Given the description of an element on the screen output the (x, y) to click on. 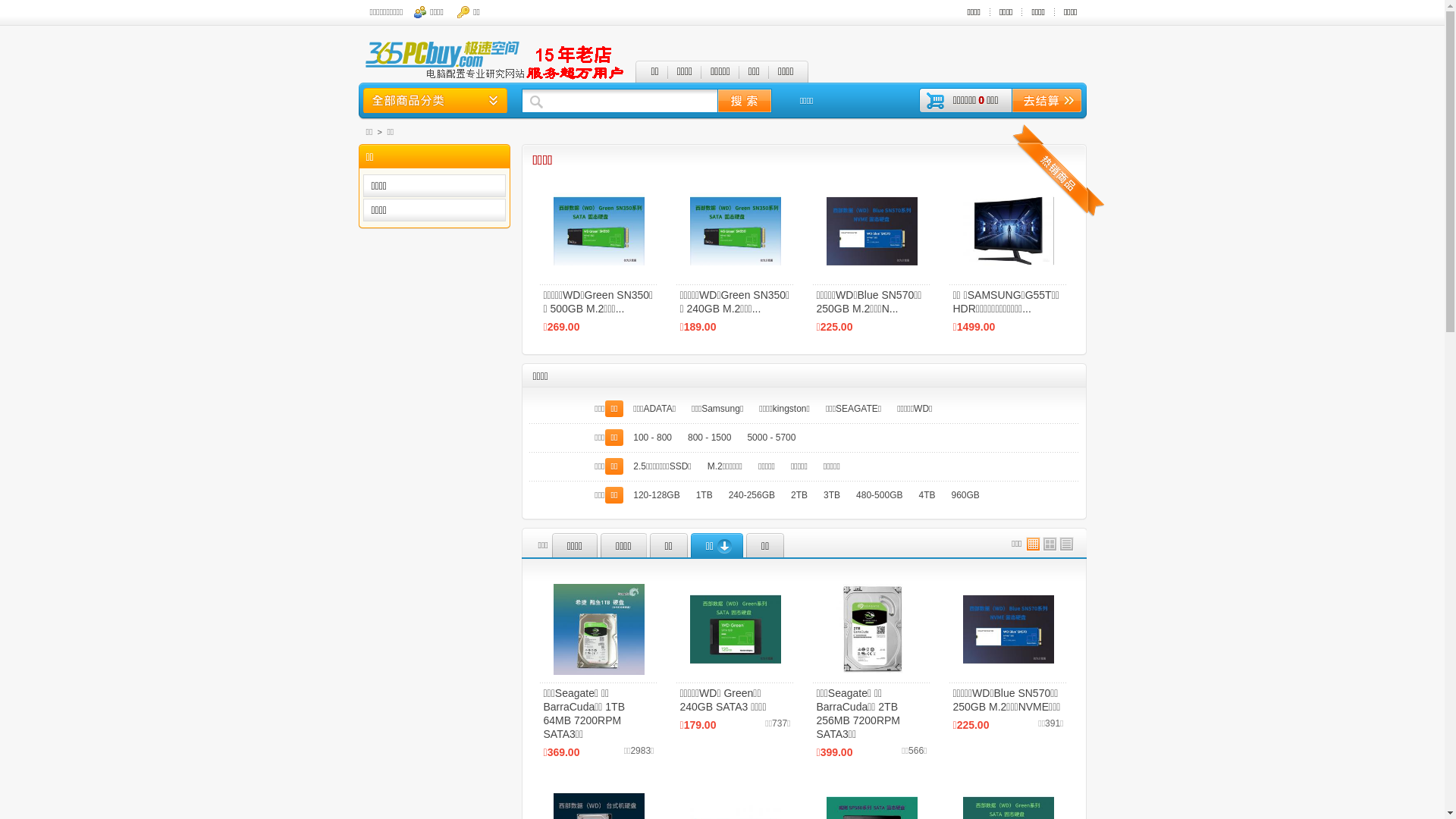
1TB Element type: text (704, 494)
4TB Element type: text (926, 494)
3TB Element type: text (831, 494)
120-128GB Element type: text (656, 494)
100 - 800 Element type: text (652, 437)
2TB Element type: text (798, 494)
5000 - 5700 Element type: text (770, 437)
800 - 1500 Element type: text (709, 437)
480-500GB Element type: text (879, 494)
960GB Element type: text (964, 494)
240-256GB Element type: text (751, 494)
